Given the description of an element on the screen output the (x, y) to click on. 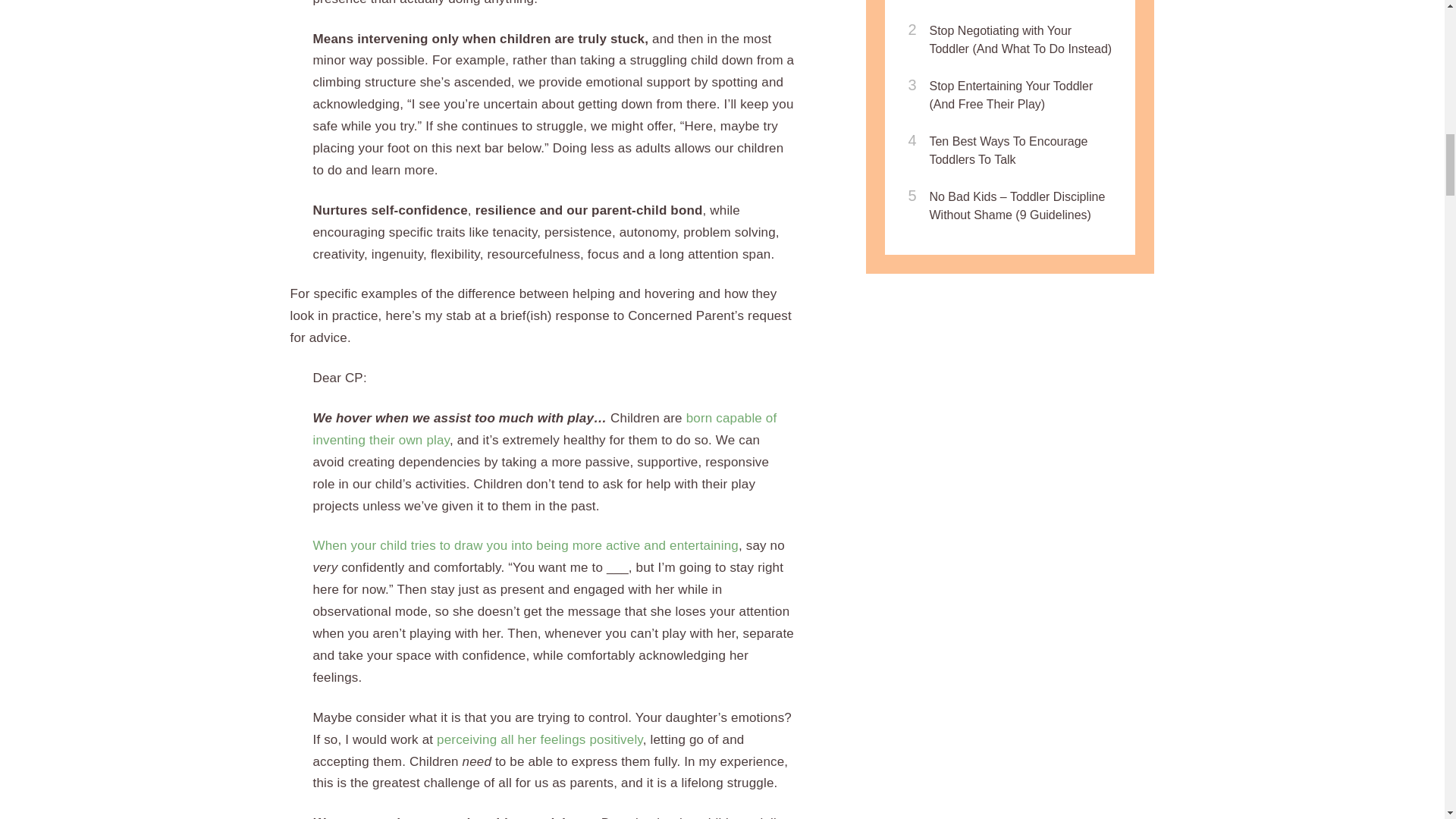
perceiving all her feelings positively (539, 739)
born capable of inventing their own play (544, 429)
